Given the description of an element on the screen output the (x, y) to click on. 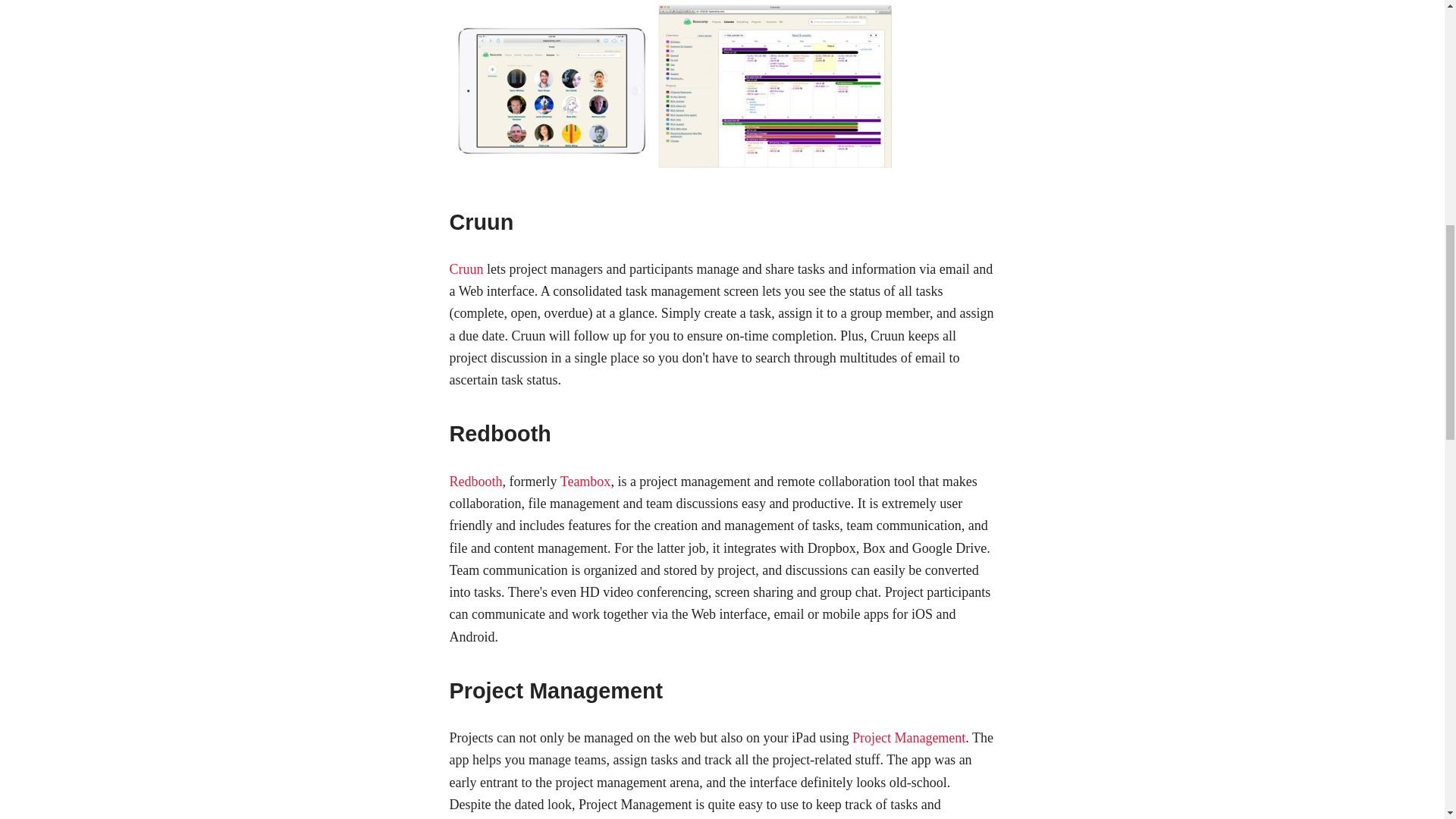
Cruun (465, 268)
Redbooth (475, 481)
